Given the description of an element on the screen output the (x, y) to click on. 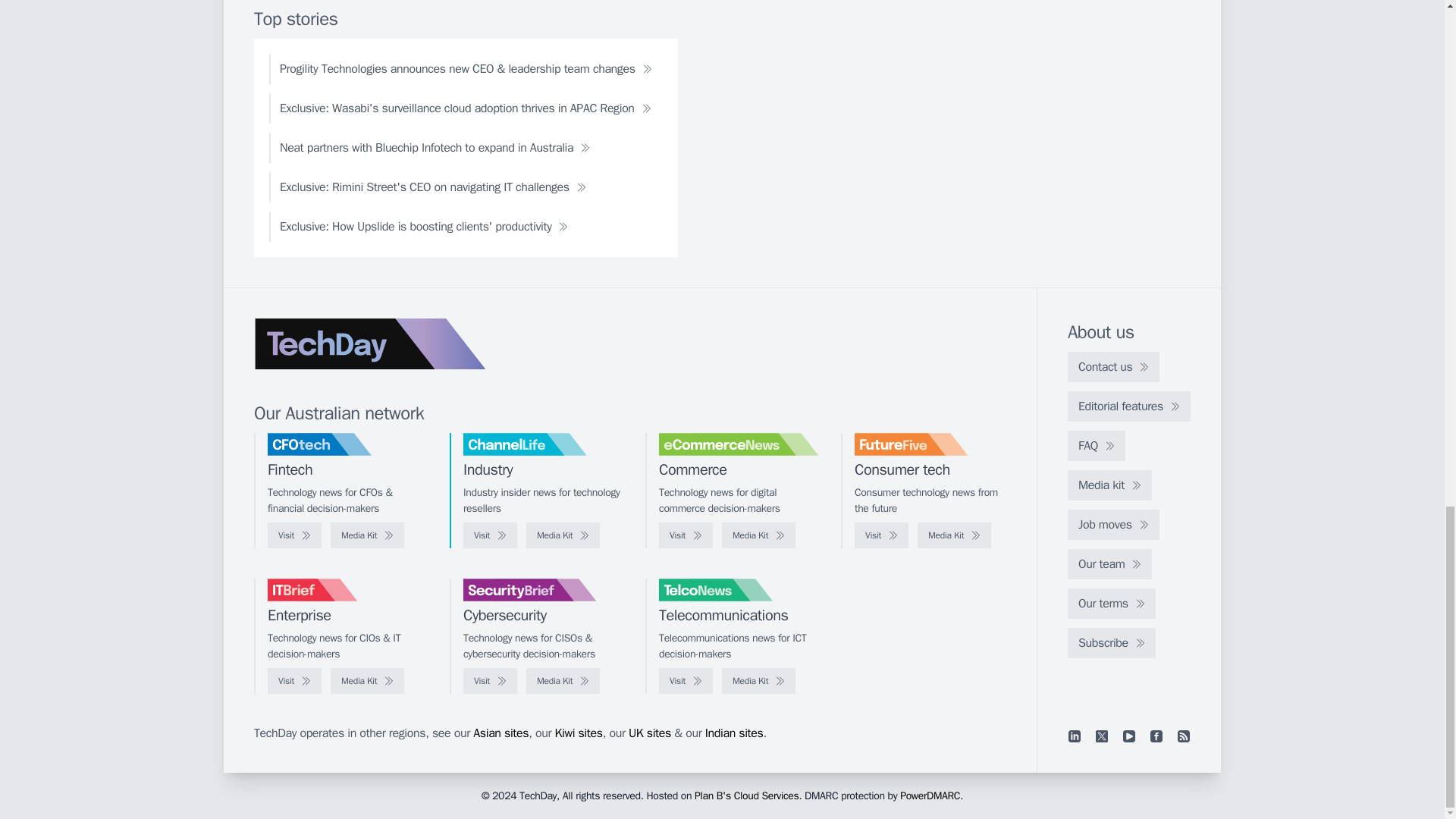
Media Kit (758, 534)
Exclusive: How Upslide is boosting clients' productivity (423, 226)
Exclusive: Rimini Street's CEO on navigating IT challenges (432, 186)
Media Kit (367, 534)
Media Kit (954, 534)
Media Kit (562, 534)
Visit (489, 534)
Visit (686, 534)
Visit (294, 534)
